Given the description of an element on the screen output the (x, y) to click on. 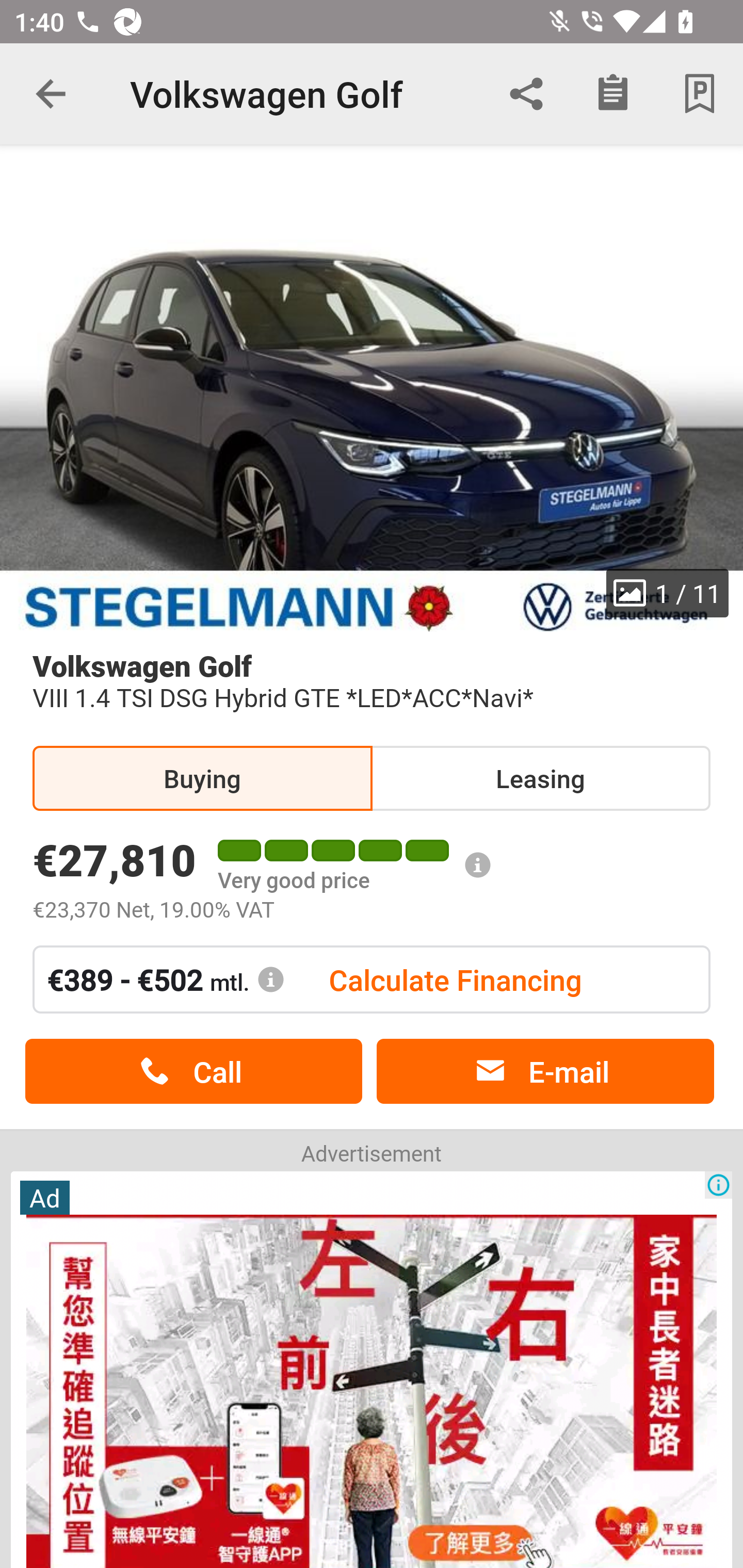
Navigate up (50, 93)
Share via (525, 93)
Checklist (612, 93)
Park (699, 93)
Buying (202, 778)
Leasing (540, 778)
Calculate Financing (454, 978)
€389 - €502 mtl. (165, 978)
Call (193, 1071)
E-mail (545, 1071)
Ad Ad Choices Icon (371, 1368)
Ad Choices Icon (718, 1184)
